Given the description of an element on the screen output the (x, y) to click on. 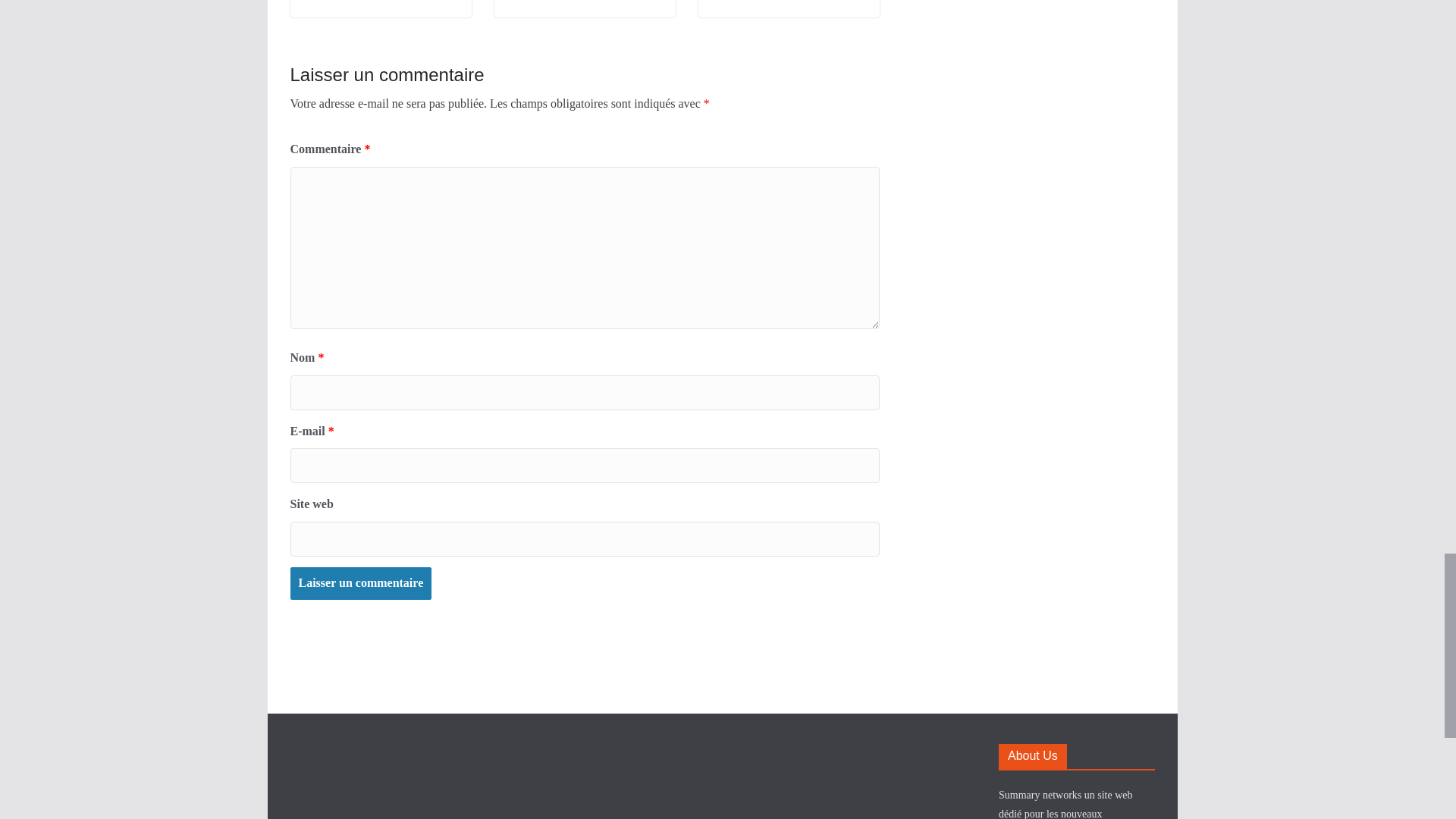
Laisser un commentaire (359, 583)
